Given the description of an element on the screen output the (x, y) to click on. 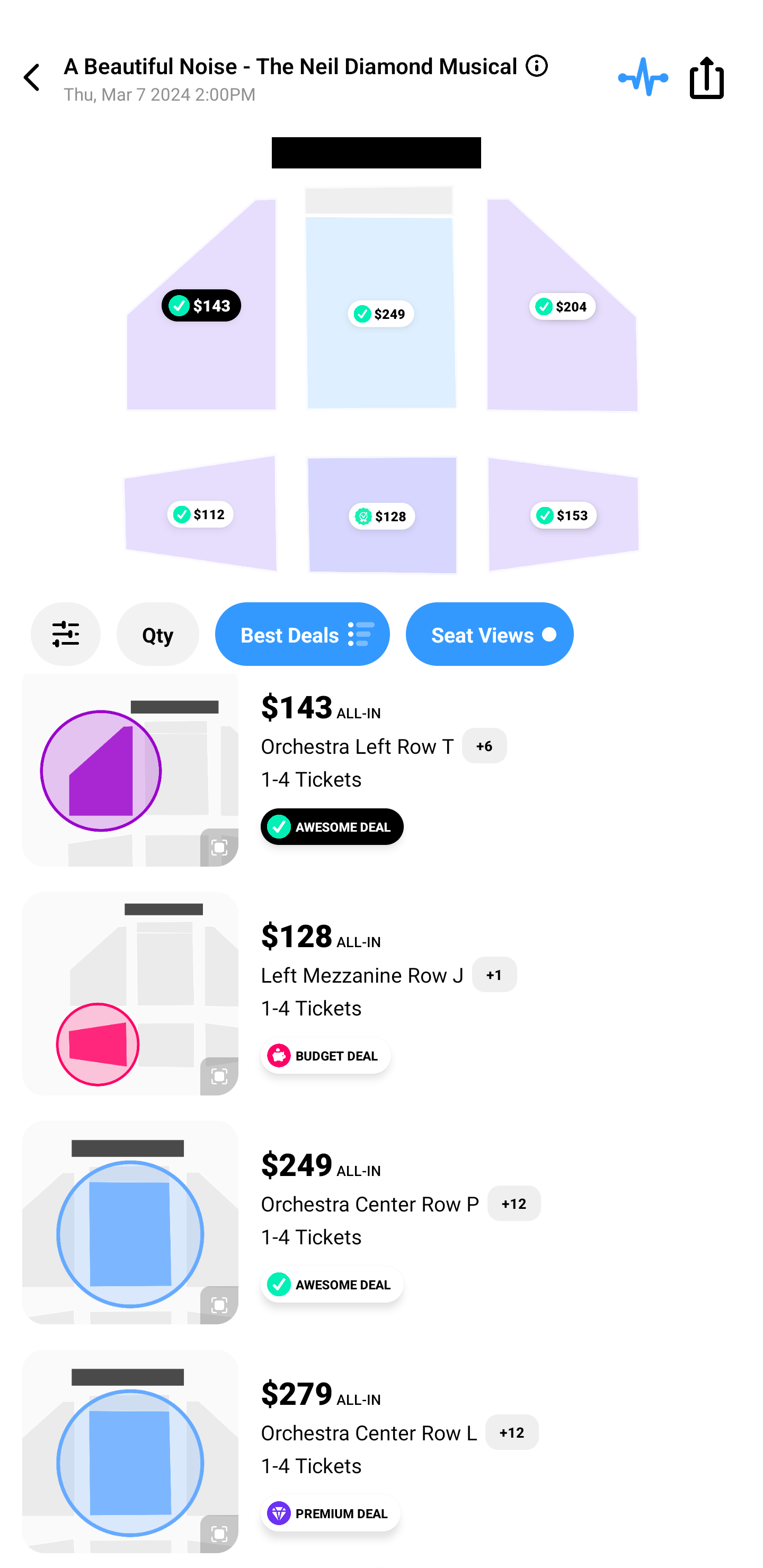
$249 (380, 313)
Qty (157, 634)
Best Deals (302, 634)
Seat Views (489, 634)
+6 (484, 745)
AWESOME DEAL (331, 827)
+1 (494, 974)
BUDGET DEAL (325, 1055)
+12 (513, 1203)
AWESOME DEAL (331, 1284)
+12 (511, 1432)
PREMIUM DEAL (330, 1512)
